Given the description of an element on the screen output the (x, y) to click on. 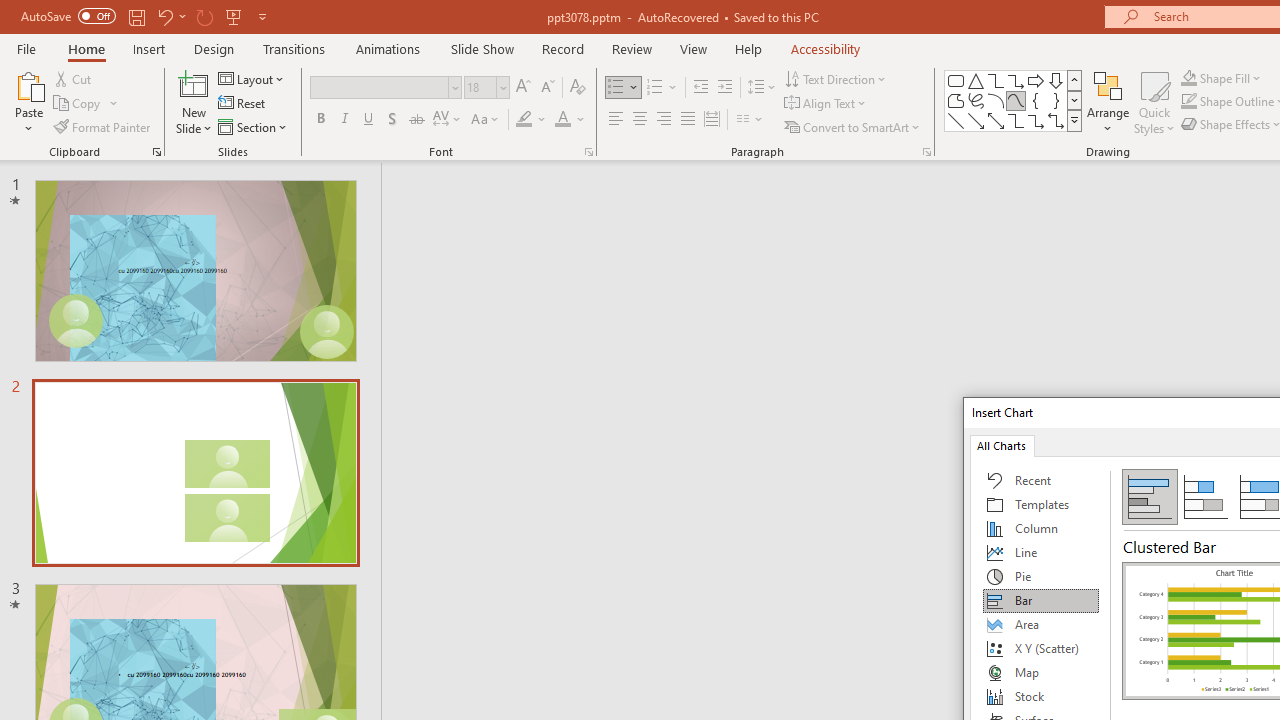
Increase Indent (725, 87)
Section (254, 126)
Shape Fill Dark Green, Accent 2 (1188, 78)
Clustered Bar (1149, 496)
Reset (243, 103)
Line Spacing (762, 87)
Align Text (826, 103)
